Given the description of an element on the screen output the (x, y) to click on. 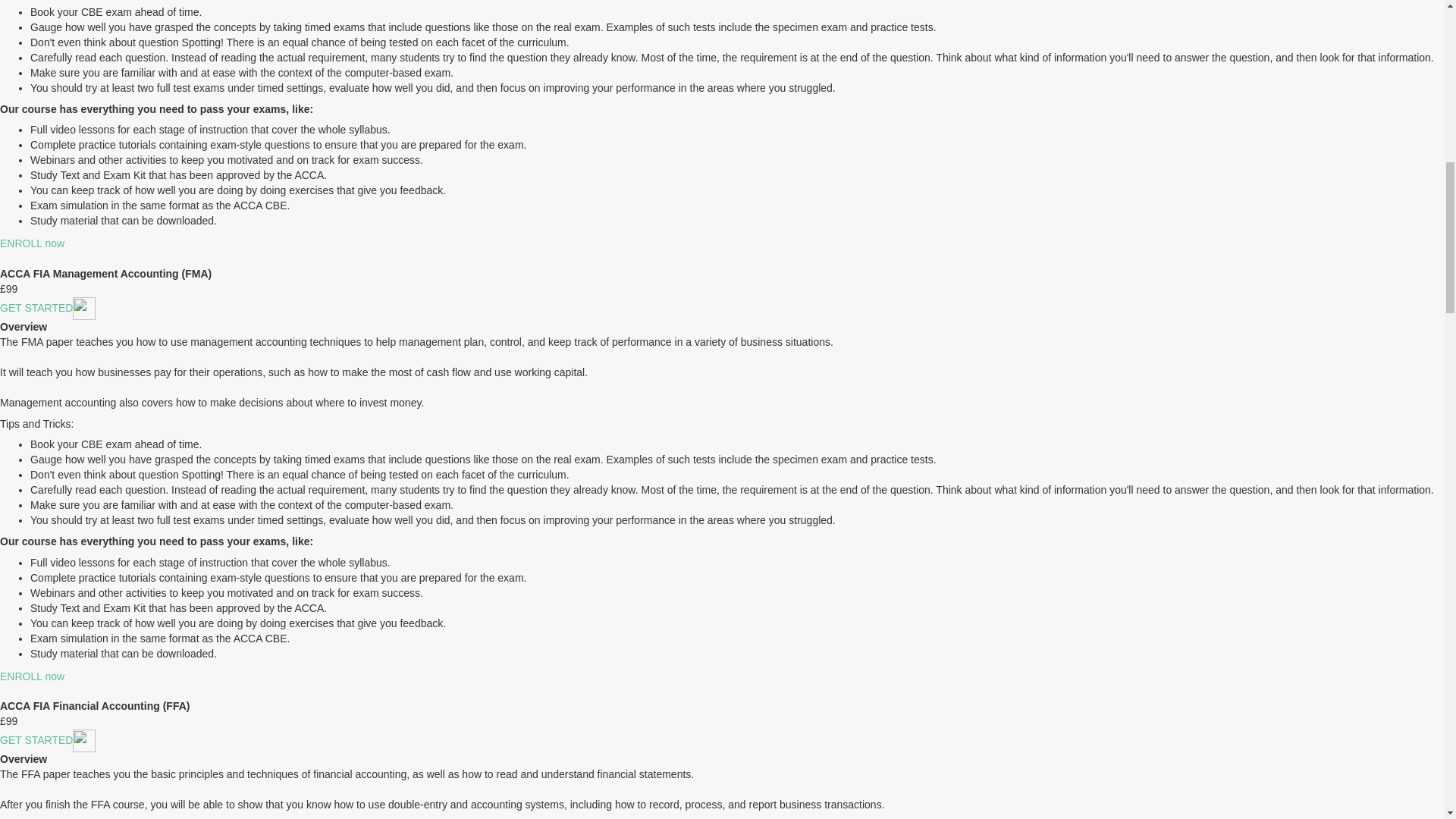
GET STARTED (36, 739)
ENROLL now (32, 243)
GET STARTED (36, 307)
ENROLL now (32, 676)
